Given the description of an element on the screen output the (x, y) to click on. 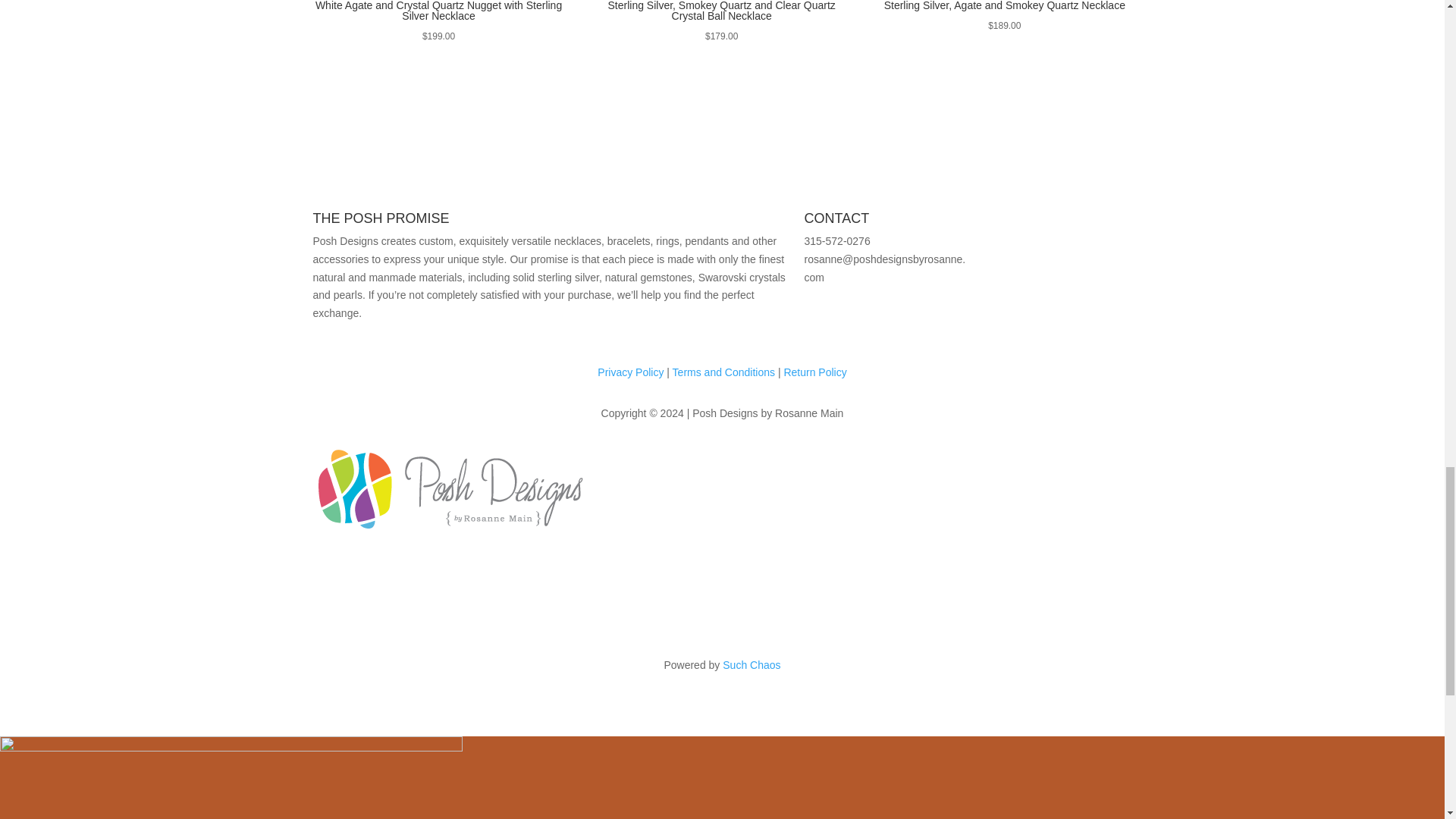
Return Policy (814, 372)
Such Chaos (751, 664)
Follow on Facebook (1018, 223)
Follow on Youtube (1079, 223)
Follow on Pinterest (1048, 223)
